Given the description of an element on the screen output the (x, y) to click on. 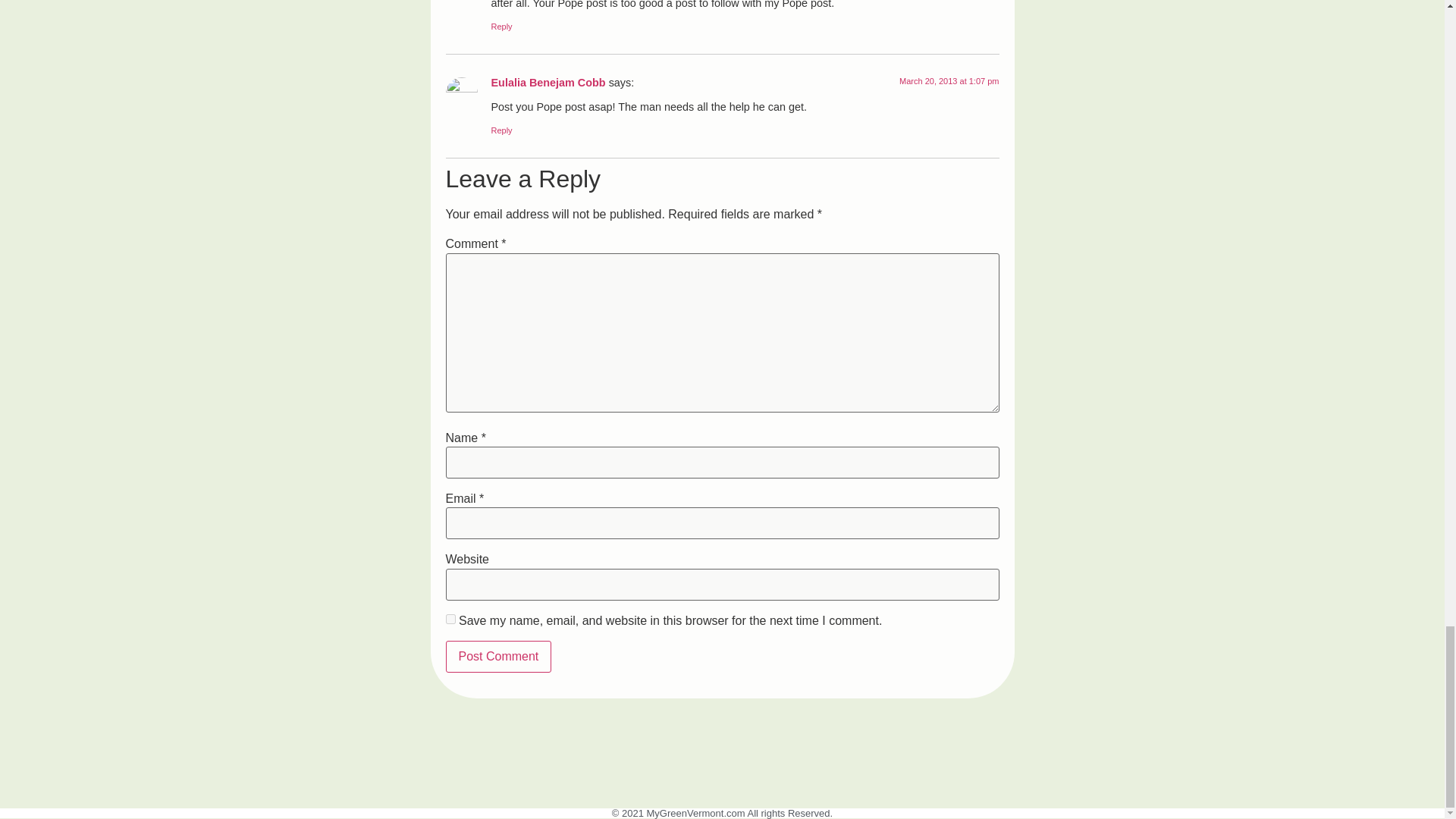
March 20, 2013 at 1:07 pm (948, 80)
Reply (502, 130)
yes (450, 619)
Eulalia Benejam Cobb (548, 82)
Post Comment (498, 656)
Post Comment (498, 656)
Reply (502, 26)
